Given the description of an element on the screen output the (x, y) to click on. 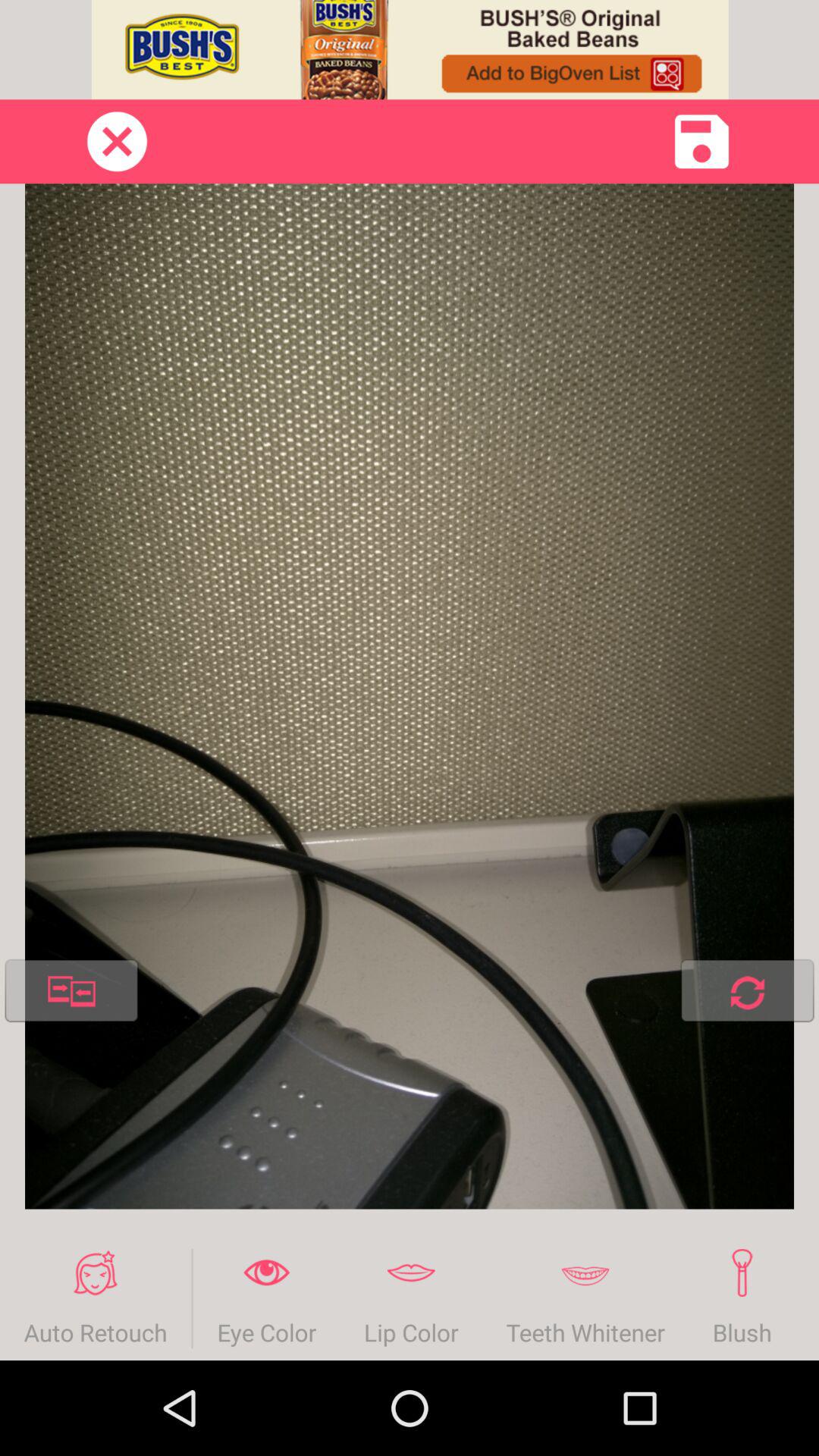
turn off eye color icon (266, 1298)
